Given the description of an element on the screen output the (x, y) to click on. 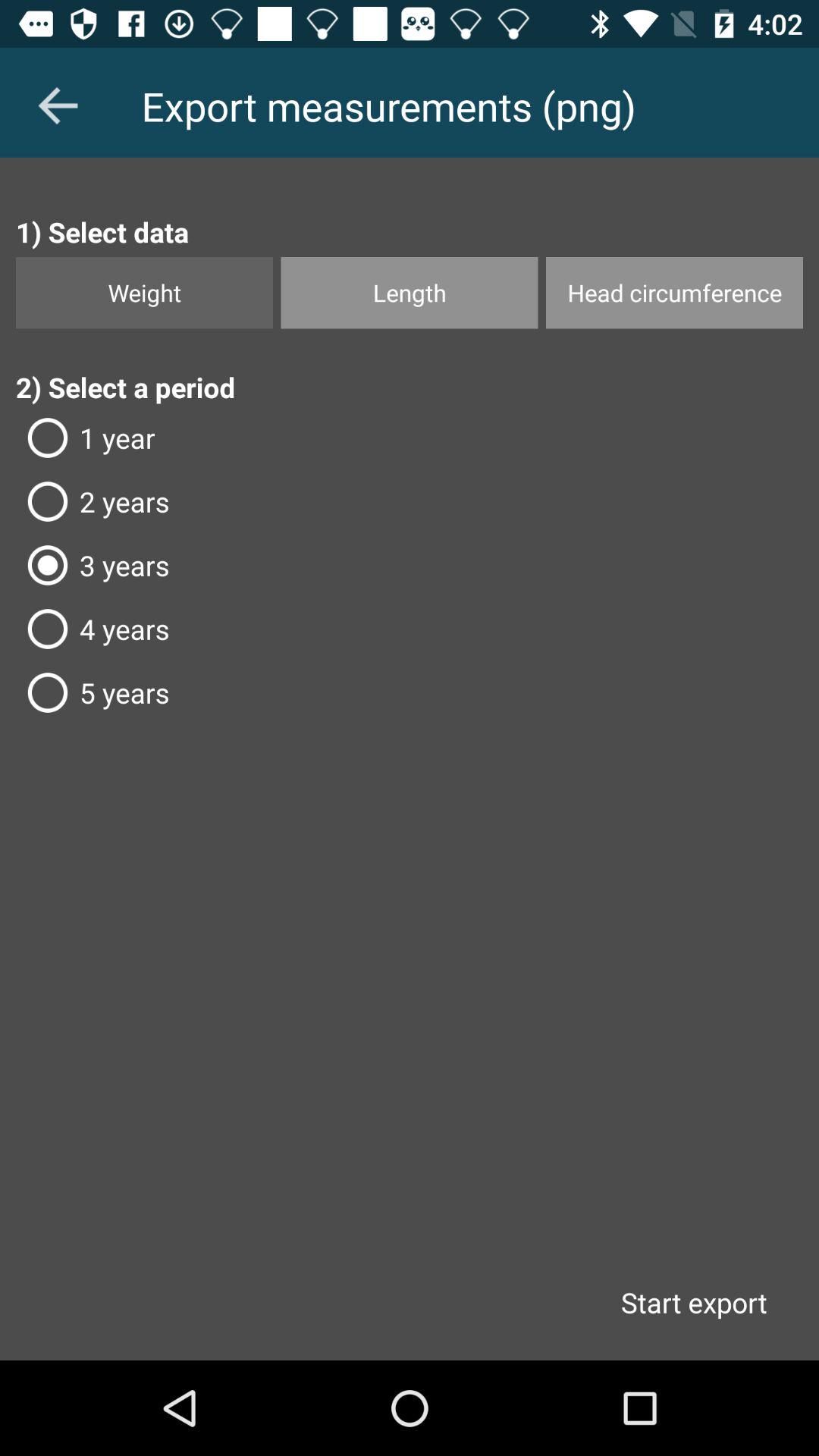
press item at the top right corner (674, 292)
